Given the description of an element on the screen output the (x, y) to click on. 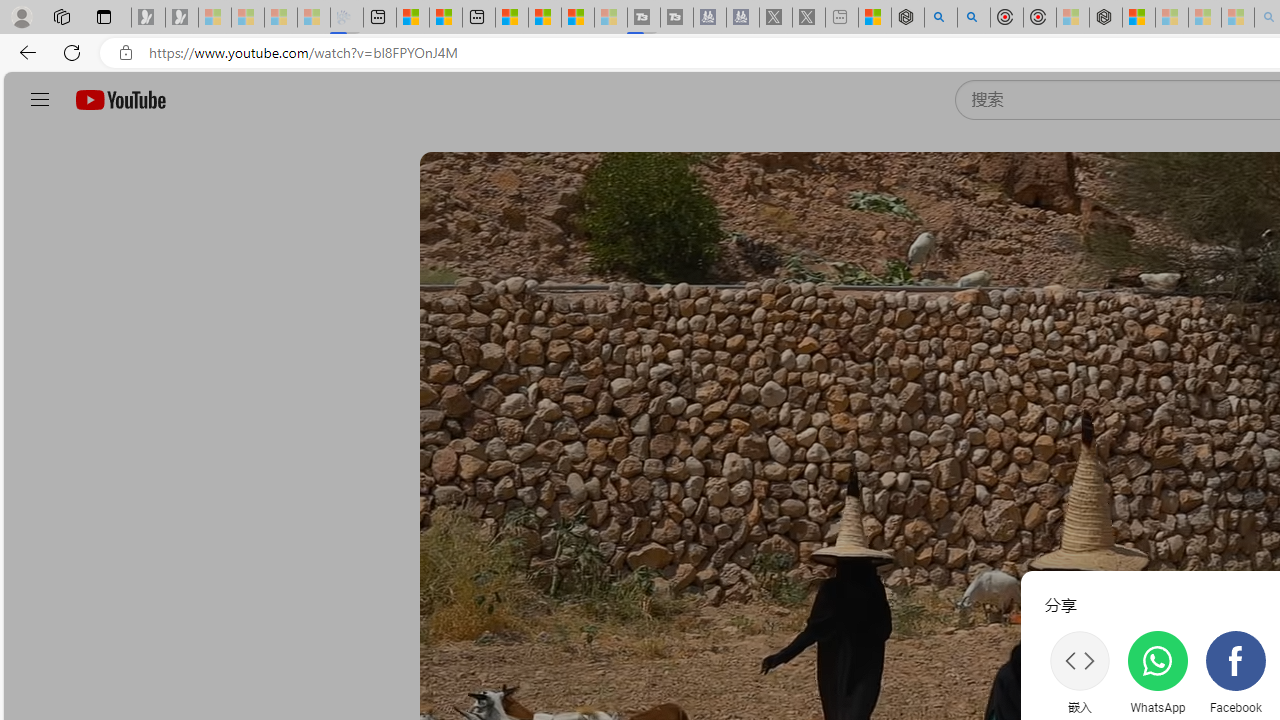
Nordace - Nordace Siena Is Not An Ordinary Backpack (1106, 17)
